Given the description of an element on the screen output the (x, y) to click on. 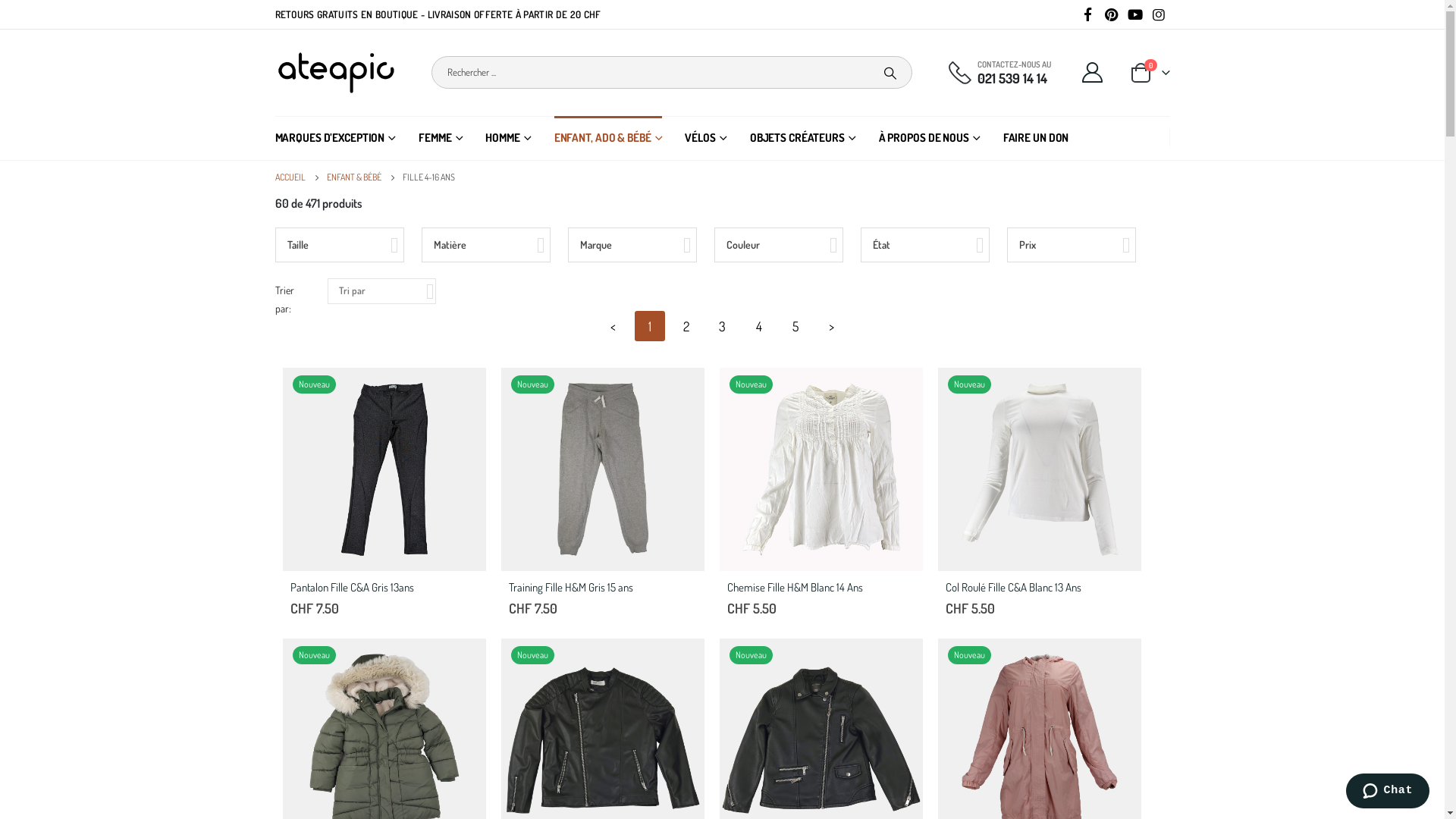
Chemise Fille H&M Blanc 14 Ans Element type: text (818, 588)
3 Element type: text (721, 325)
Taille Element type: text (338, 244)
4 Element type: text (758, 325)
> Element type: text (830, 325)
Nouveau Element type: text (1038, 467)
Nouveau Element type: text (1038, 737)
Prix Element type: text (1071, 244)
Marque Element type: text (631, 244)
FEMME Element type: text (440, 138)
FAIRE UN DON Element type: text (1036, 138)
Nouveau Element type: text (601, 467)
Nouveau Element type: text (820, 737)
ACCUEIL Element type: text (289, 177)
1 Element type: text (648, 325)
Mon compte Element type: hover (1091, 72)
Chercher Element type: hover (890, 72)
Nouveau Element type: text (383, 467)
< Element type: text (612, 325)
Pinterest Element type: hover (1111, 14)
Nouveau Element type: text (820, 467)
HOMME Element type: text (507, 138)
Tri par Element type: text (381, 291)
Nouveau Element type: text (383, 737)
Facebook Element type: hover (1087, 14)
Training Fille H&M Gris 15 ans Element type: text (600, 588)
2 Element type: text (685, 325)
Youtube Element type: hover (1135, 14)
Opens a widget where you can chat to one of our agents Element type: hover (1387, 792)
Pantalon Fille C&A Gris 13ans Element type: text (381, 588)
Nouveau Element type: text (601, 737)
5 Element type: text (794, 325)
Couleur Element type: text (778, 244)
Instagram Element type: hover (1158, 14)
